Given the description of an element on the screen output the (x, y) to click on. 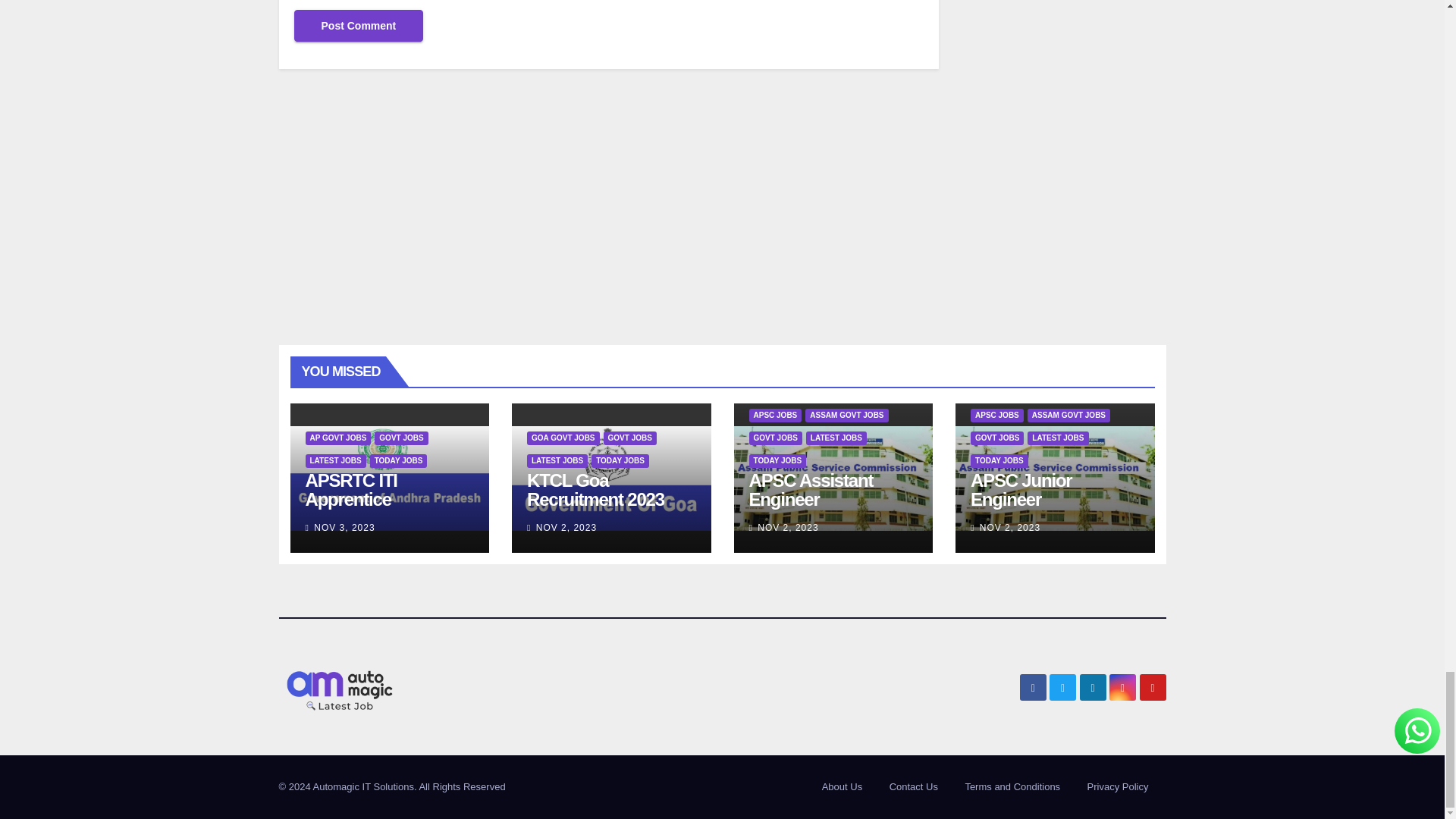
Post Comment (358, 25)
